Given the description of an element on the screen output the (x, y) to click on. 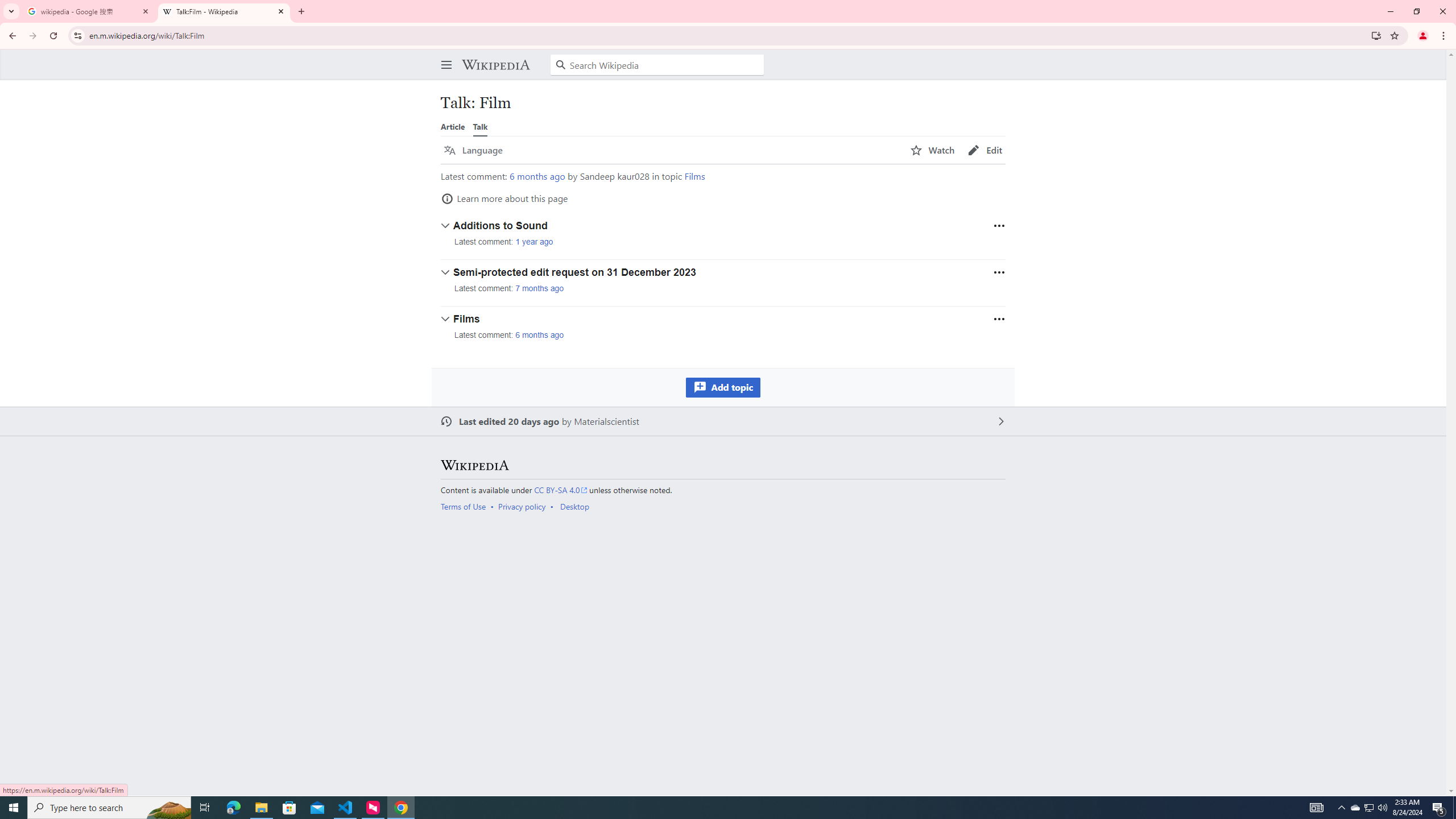
7 months ago (539, 288)
Install Wikipedia (1376, 35)
AutomationID: page-actions-edit (984, 150)
AutomationID: main-menu-input (443, 55)
Add topic (722, 386)
AutomationID: footer-places-privacy (525, 506)
Wikipedia (474, 464)
Learn more about this page (504, 198)
